Given the description of an element on the screen output the (x, y) to click on. 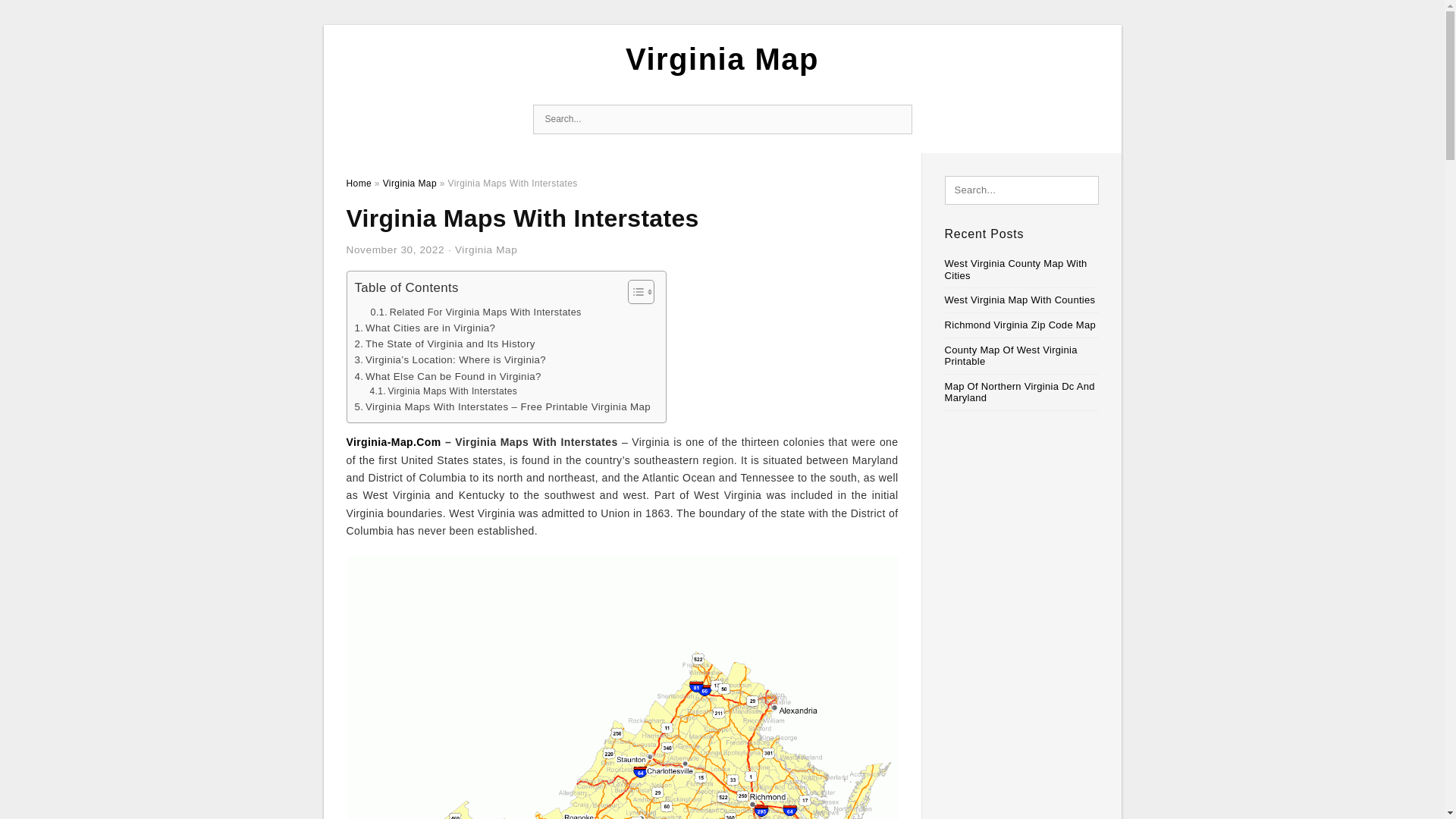
Virginia Map (409, 183)
Search (895, 119)
Related For Virginia Maps With Interstates (474, 312)
What Else Can be Found in Virginia? (448, 376)
What Cities are in Virginia? (425, 327)
What Else Can be Found in Virginia? (448, 376)
Related For Virginia Maps With Interstates (474, 312)
Search (895, 119)
Search (895, 119)
Virginia-Map.Com (393, 441)
Virginia Map (486, 249)
The State of Virginia and Its History (445, 343)
What Cities are in Virginia? (425, 327)
Home (358, 183)
